Given the description of an element on the screen output the (x, y) to click on. 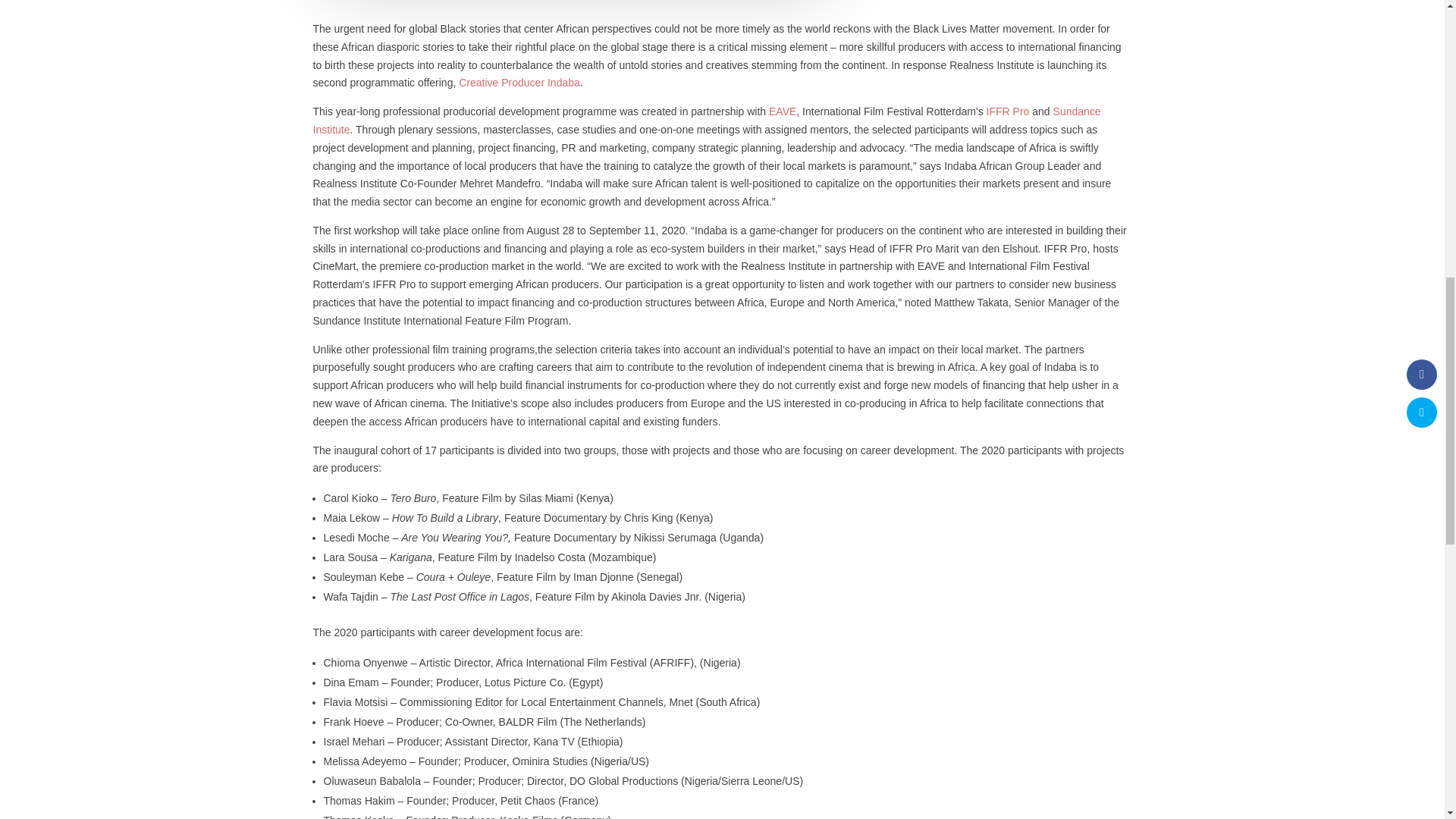
IFFR Pro (1006, 111)
Sundance Institute (706, 120)
Creative Producer Indaba (518, 82)
EAVE (782, 111)
